Given the description of an element on the screen output the (x, y) to click on. 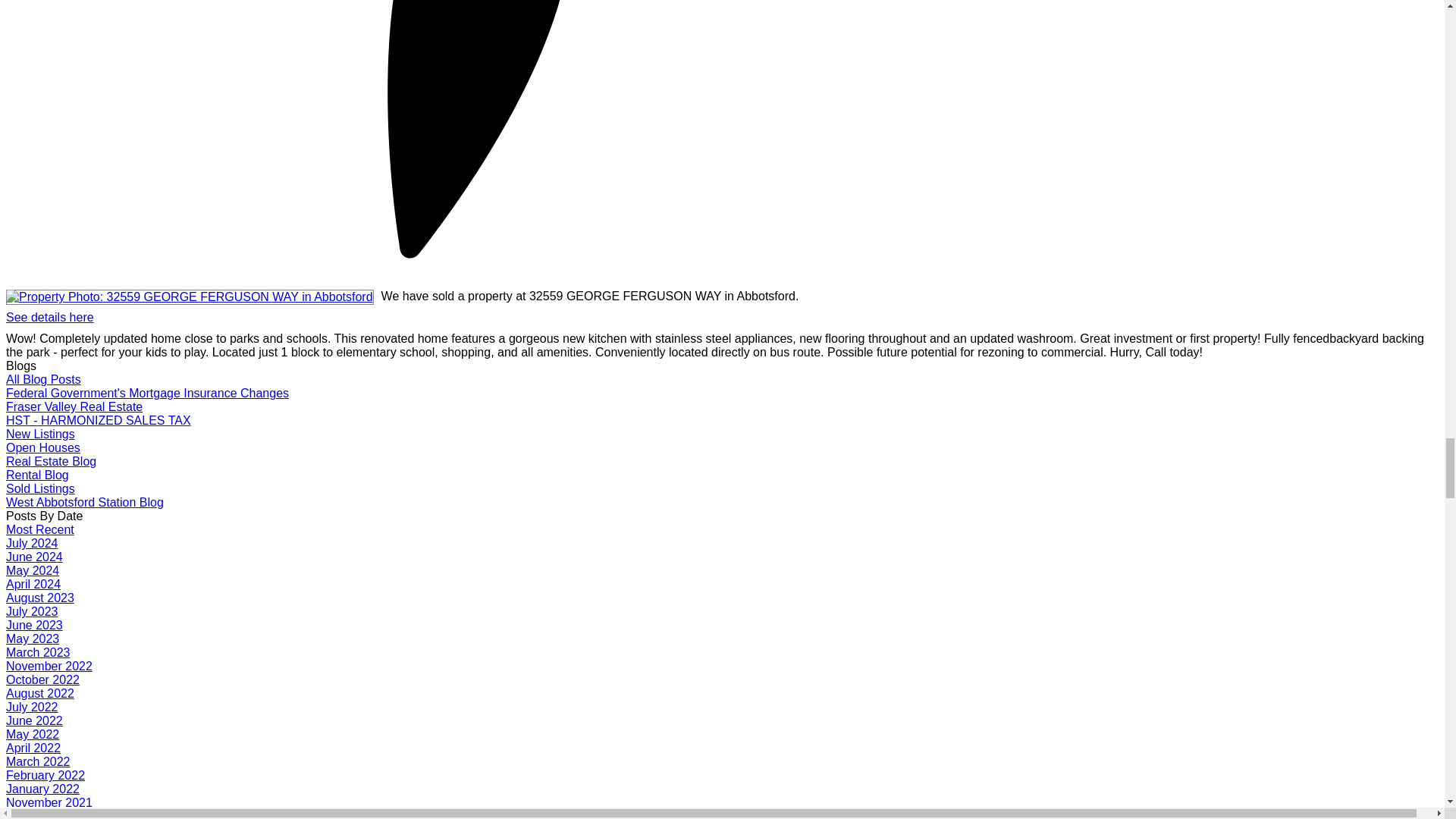
Rental Blog (36, 474)
Real Estate Blog (50, 461)
Open Houses (42, 447)
See details here (49, 317)
All Blog Posts (43, 379)
New Listings (40, 433)
Fraser Valley Real Estate (73, 406)
Federal Government's Mortgage Insurance Changes (146, 392)
HST - HARMONIZED SALES TAX (97, 420)
